Given the description of an element on the screen output the (x, y) to click on. 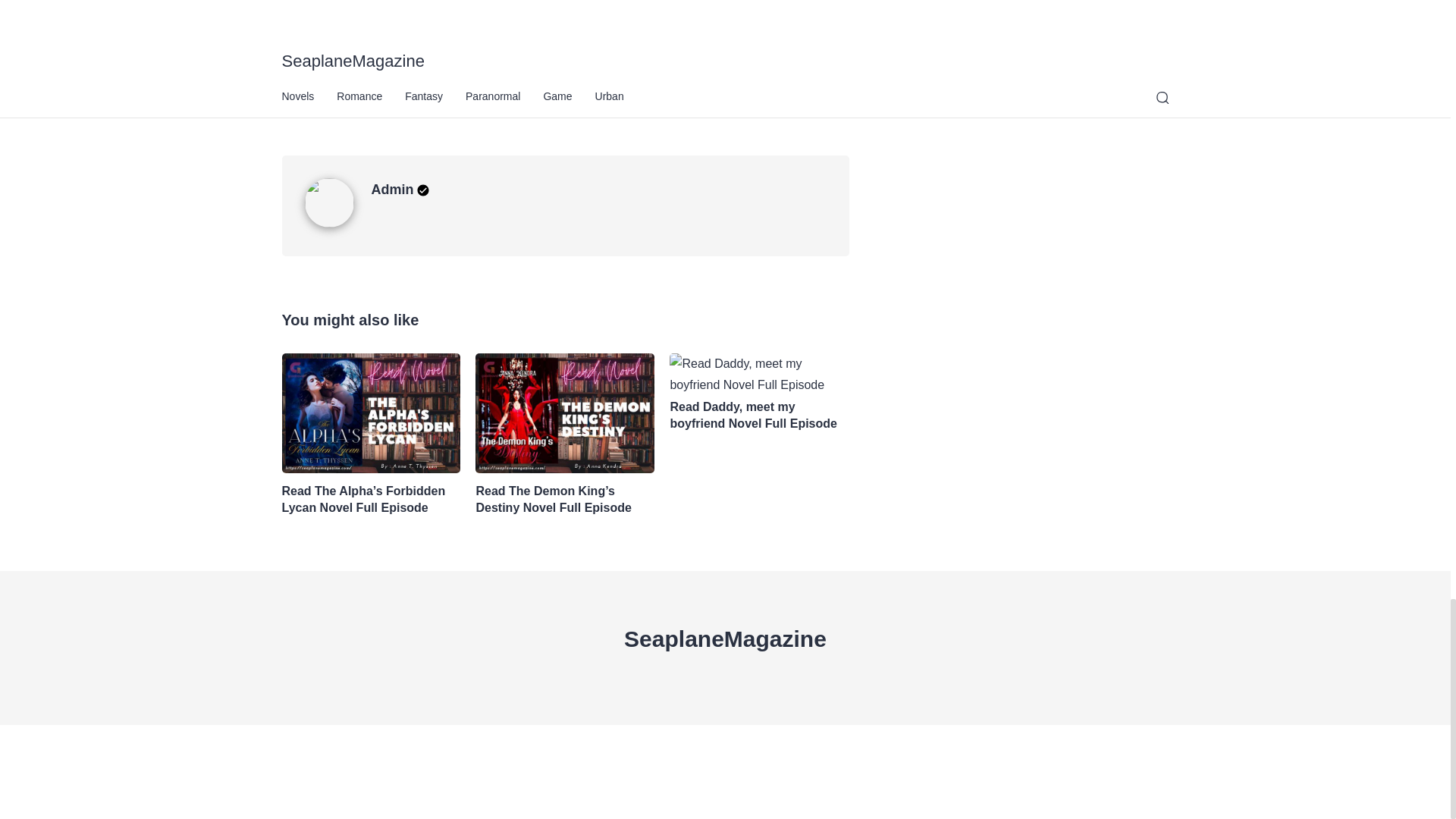
Read Lahnthean Aria Novel Full Episode (481, 44)
Admin (400, 189)
Fantasy (306, 101)
Novel (355, 101)
Admin (337, 223)
